Given the description of an element on the screen output the (x, y) to click on. 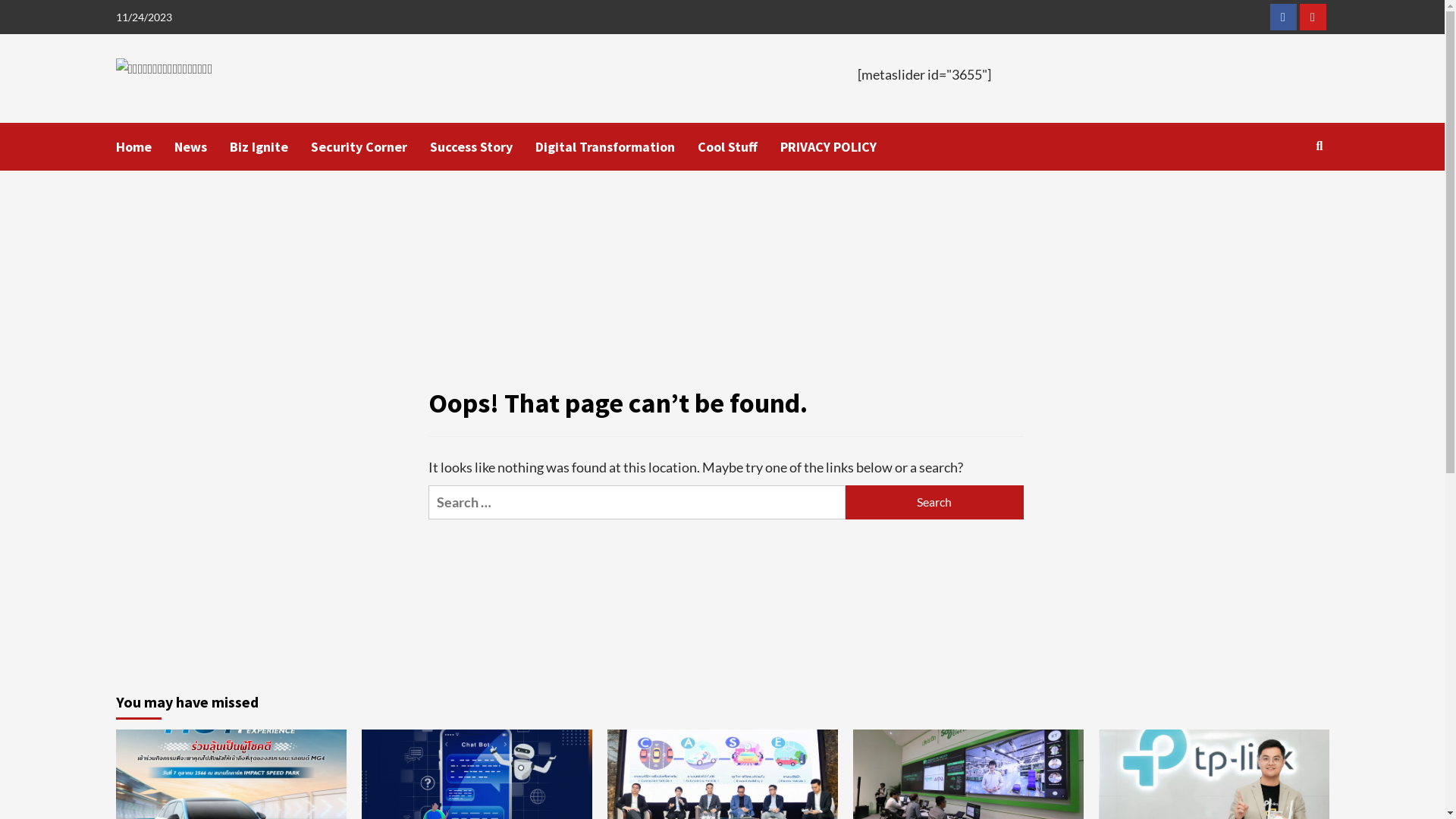
Home Element type: text (144, 146)
PRIVACY POLICY Element type: text (838, 146)
Security Corner Element type: text (369, 146)
Success Story Element type: text (481, 146)
Youtube Element type: text (1312, 16)
Facebook Element type: text (1282, 16)
Search Element type: text (1283, 194)
Cool Stuff Element type: text (738, 146)
Search Element type: text (933, 502)
Digital Transformation Element type: text (616, 146)
News Element type: text (201, 146)
Biz Ignite Element type: text (269, 146)
Search Element type: hover (1319, 145)
